Given the description of an element on the screen output the (x, y) to click on. 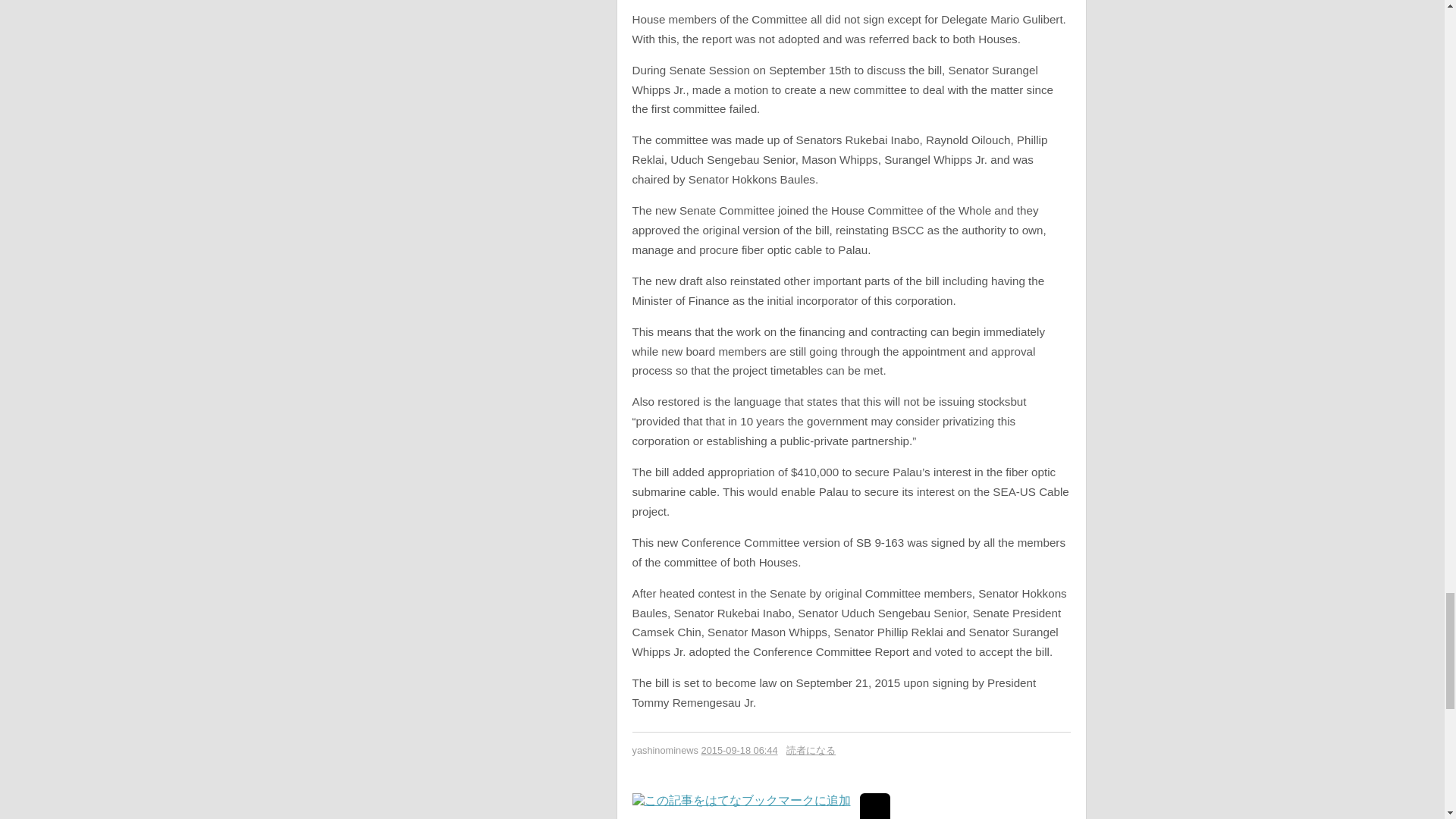
2015-09-18 06:44 (739, 749)
2015-09-17T21:44:18Z (739, 749)
